Given the description of an element on the screen output the (x, y) to click on. 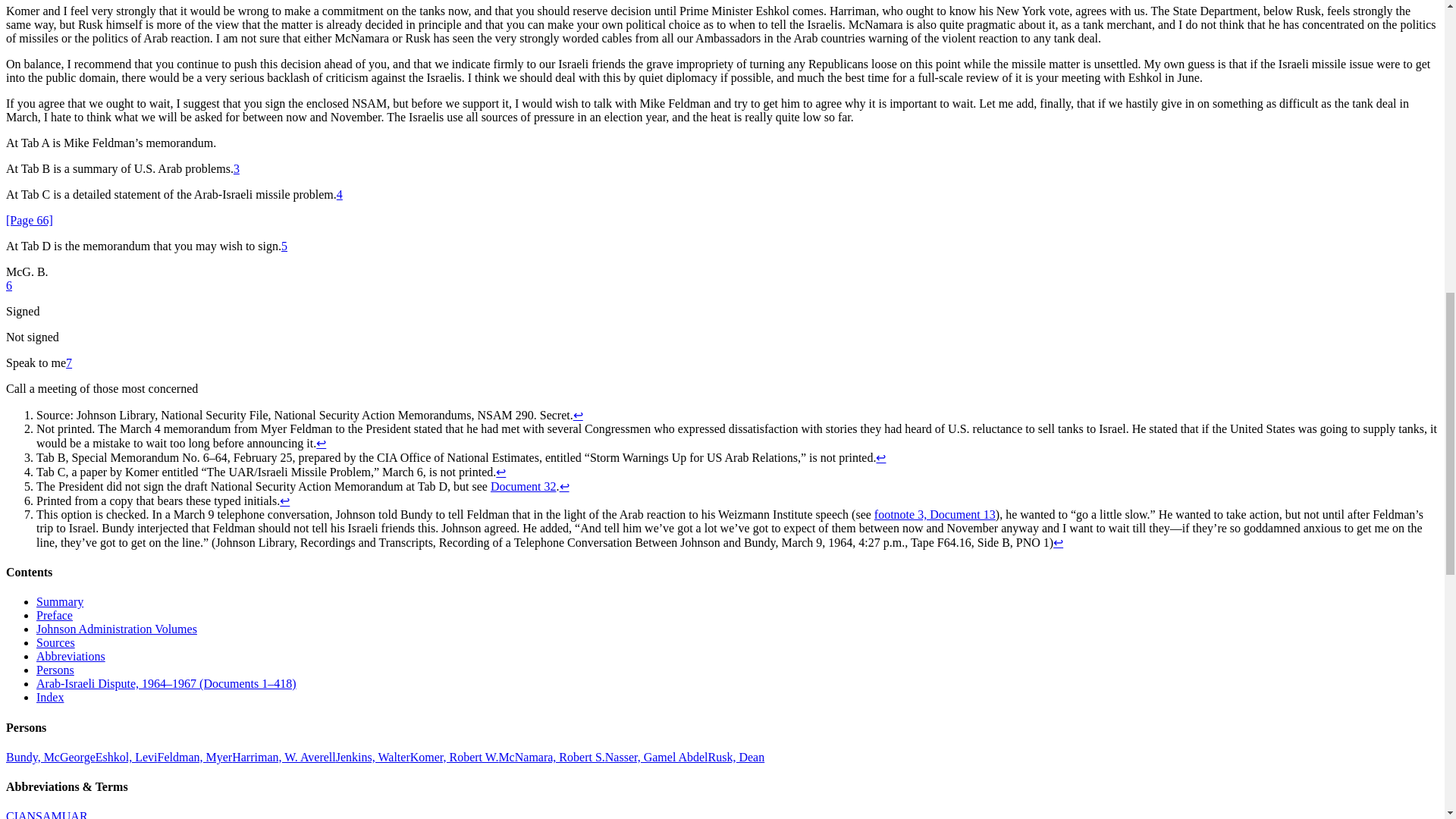
National Security Action Memorandum (44, 814)
Central Intelligence Agency (16, 814)
Special Assistant to the President until October 1964 (373, 757)
Deputy Special Counsel to the President until January 1965 (194, 757)
Secretary of State (736, 757)
Secretary of Defense until February 1968 (550, 757)
President of the United Arab Republic (656, 757)
United Arab Republic (74, 814)
